Given the description of an element on the screen output the (x, y) to click on. 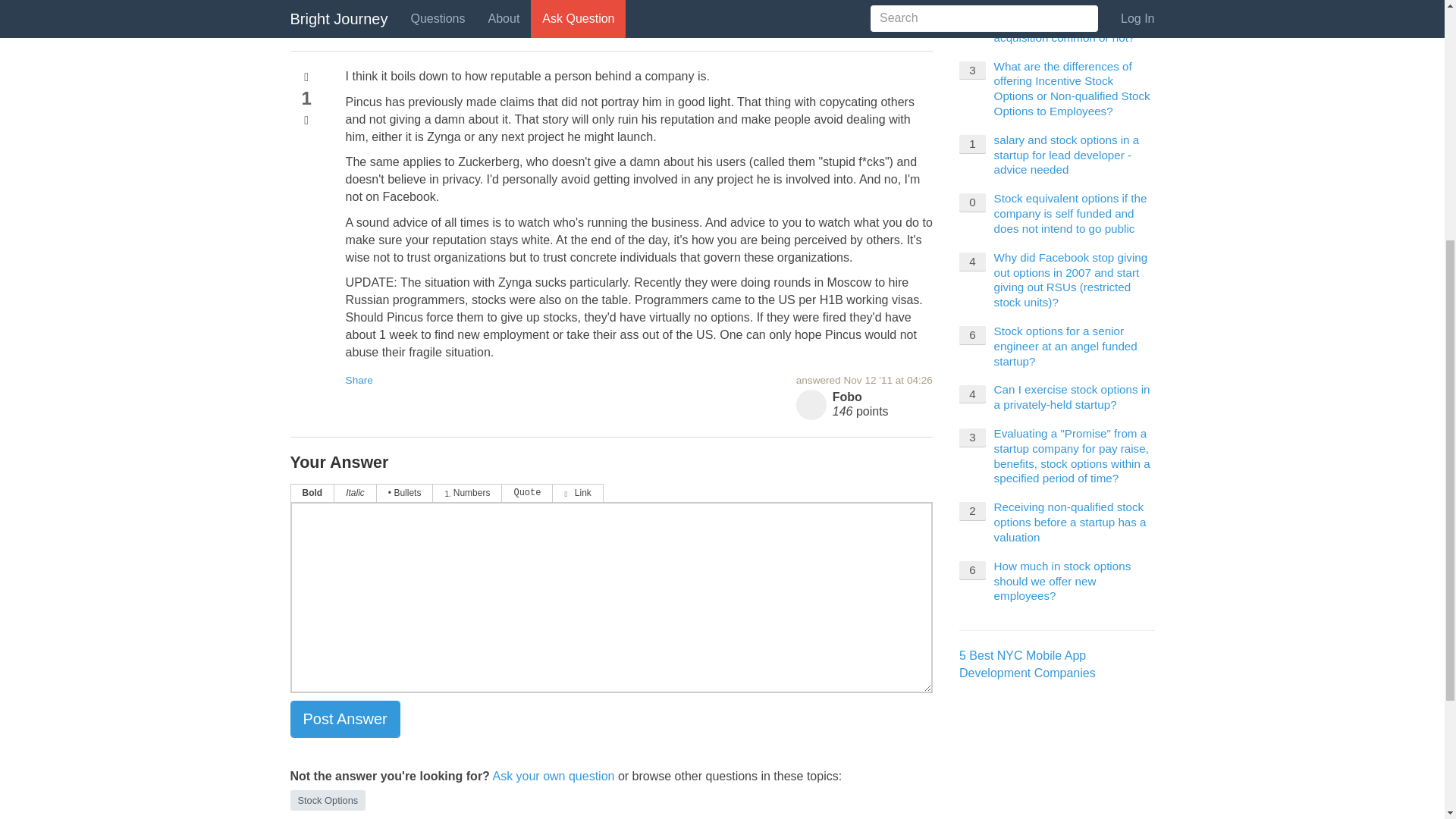
5 Best NYC Mobile App Development Companies (1027, 664)
Ask your own question (553, 775)
Post Answer (343, 719)
You need to be logged in to vote (306, 120)
Share (359, 379)
You need to be logged in to vote (306, 77)
Can I exercise stock options in a privately-held startup? (1072, 397)
Stock Options (327, 800)
How much in stock options should we offer new employees? (1062, 580)
